Given the description of an element on the screen output the (x, y) to click on. 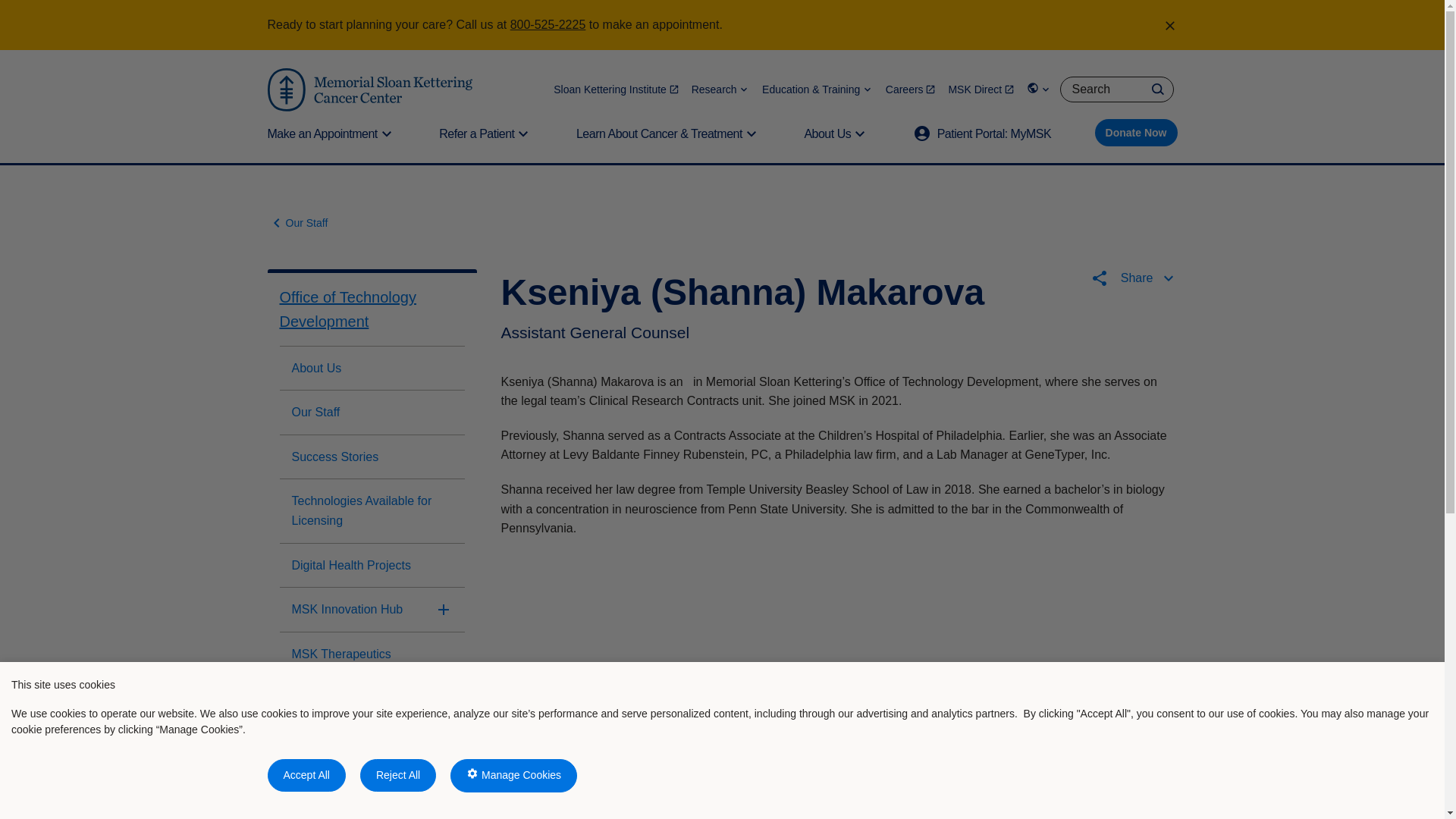
800-525-2225 (548, 24)
Manage Cookies (512, 775)
Sloan Kettering Institute (615, 89)
Donate Now (1135, 132)
Accept All (305, 775)
Reject All (397, 775)
Research (720, 89)
Insert a query. Press enter to send (1115, 88)
